Given the description of an element on the screen output the (x, y) to click on. 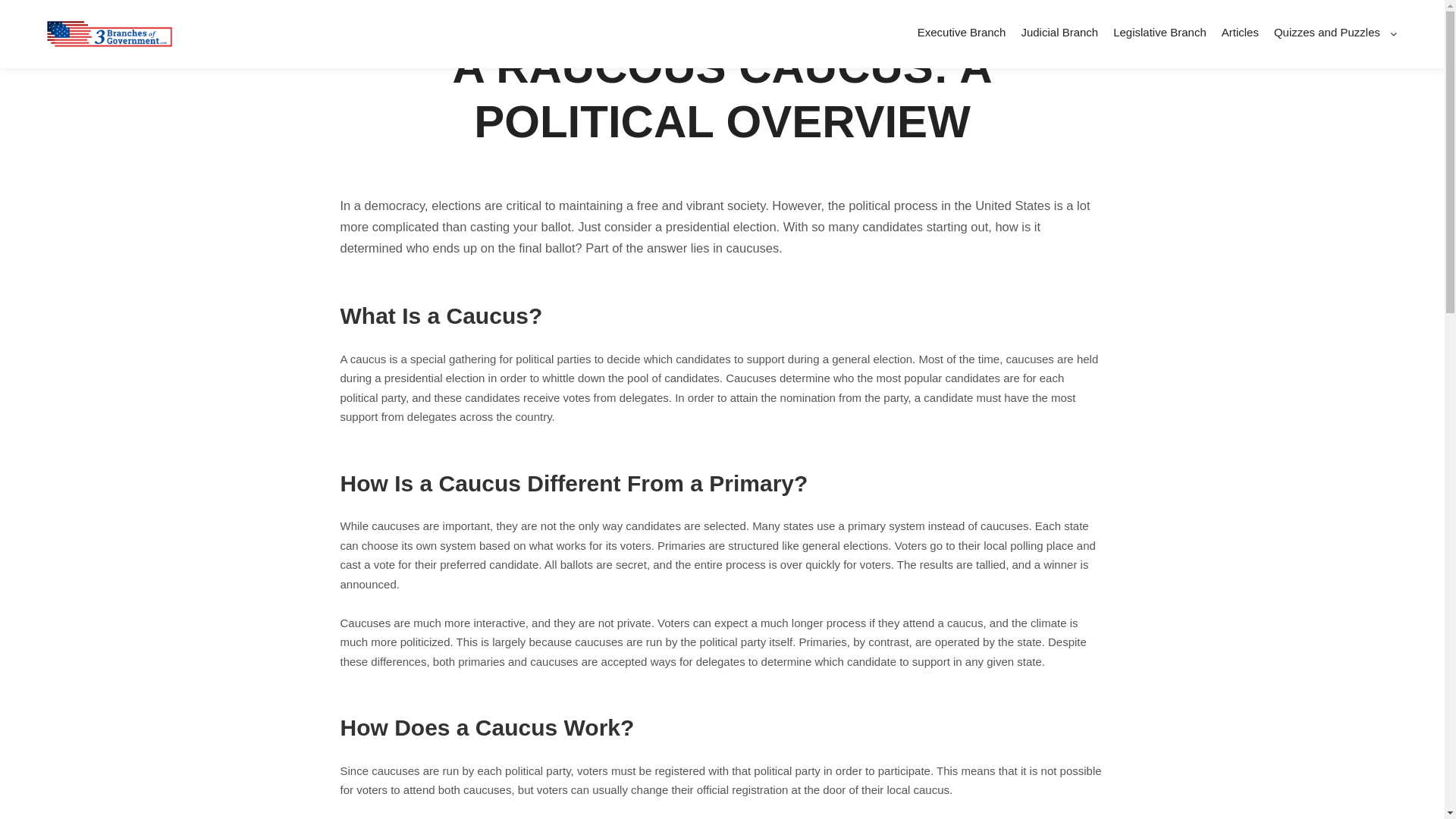
Judicial Branch Element type: text (1059, 31)
Quizzes and Puzzles Element type: text (1324, 31)
Legislative Branch Element type: text (1159, 31)
Executive Branch Element type: text (961, 31)
3 branches of government of the United States Element type: hover (106, 34)
3 Branches Element type: text (765, 20)
Articles Element type: text (1240, 31)
